Given the description of an element on the screen output the (x, y) to click on. 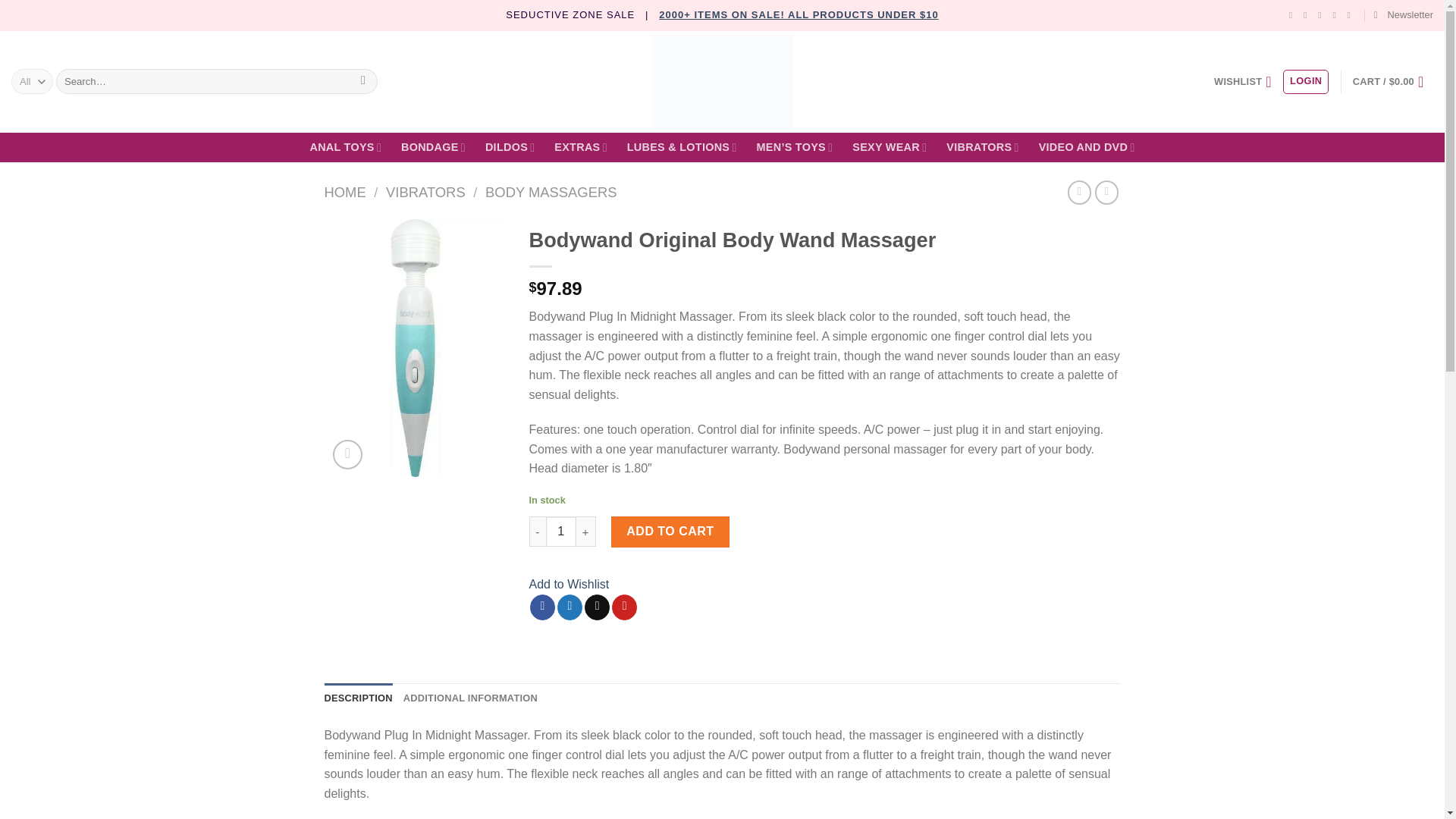
Newsletter (1403, 15)
ANAL TOYS (344, 147)
Cart (1392, 81)
WISHLIST (1242, 81)
Seductive Zone - Adult toys, sexy wear and more! (721, 81)
LOGIN (1304, 81)
1 (561, 531)
Sign up for our Newsletter (1403, 15)
BONDAGE (433, 147)
